Given the description of an element on the screen output the (x, y) to click on. 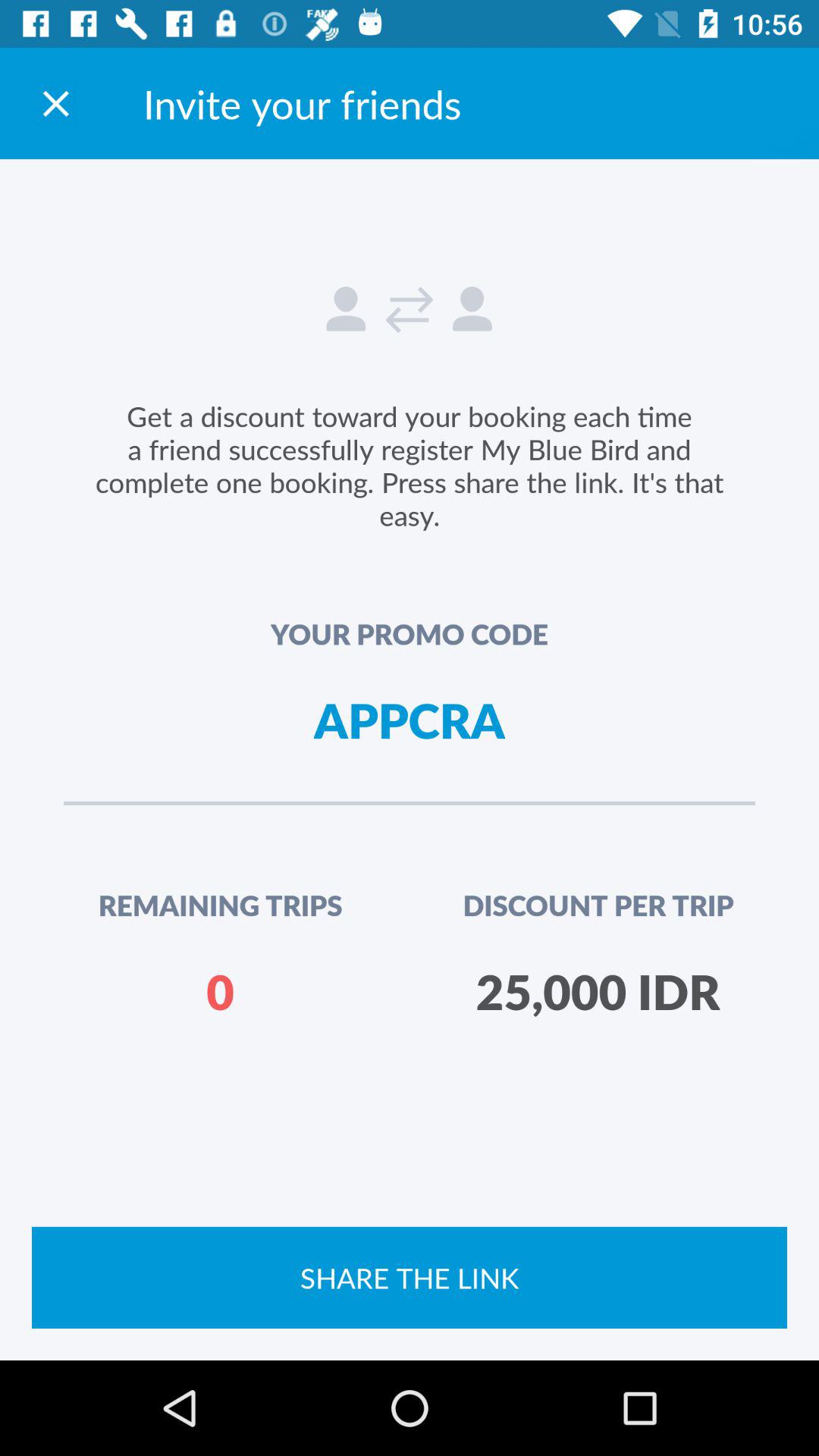
close icon (55, 103)
